Given the description of an element on the screen output the (x, y) to click on. 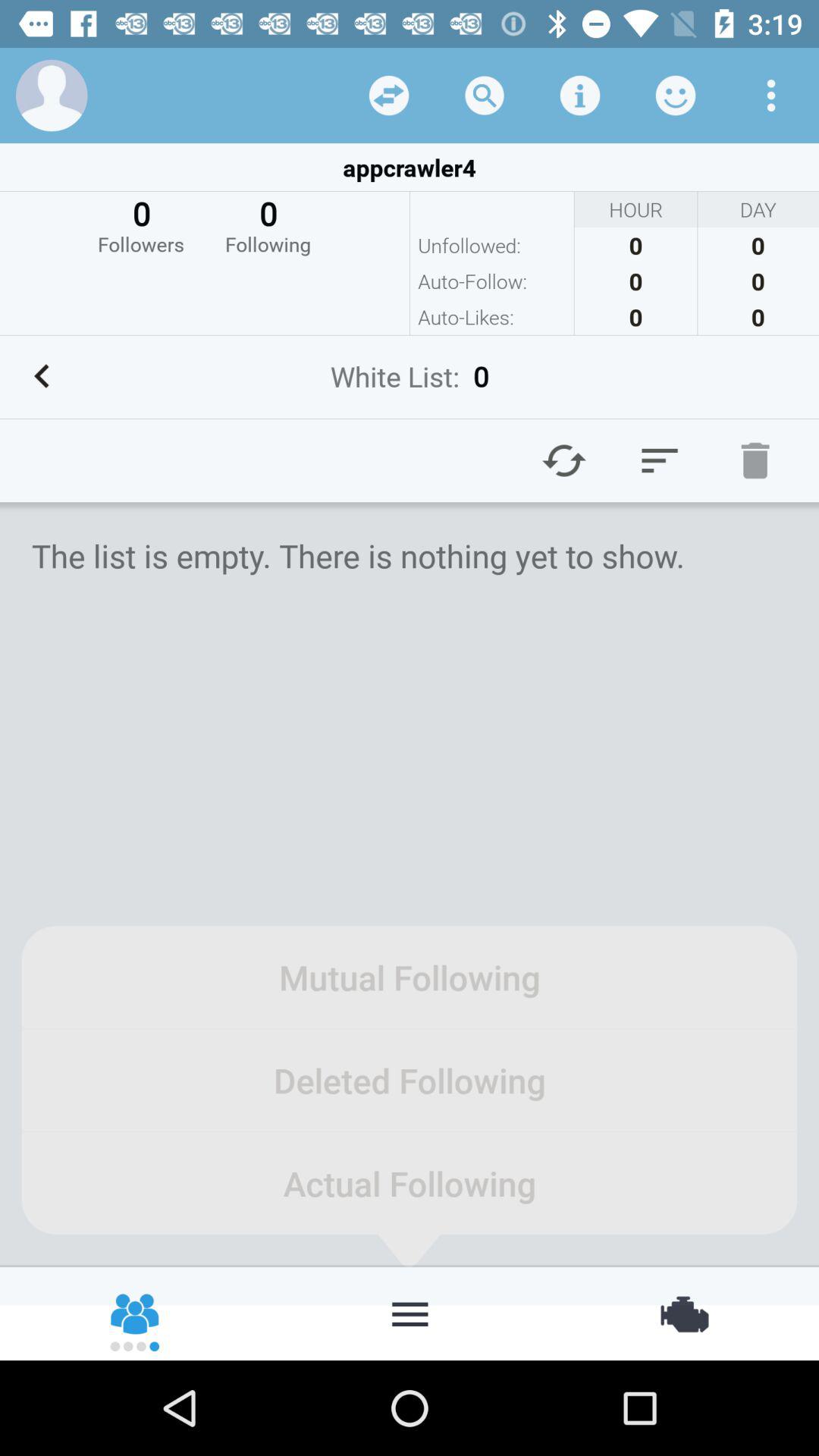
go to save (579, 95)
